Given the description of an element on the screen output the (x, y) to click on. 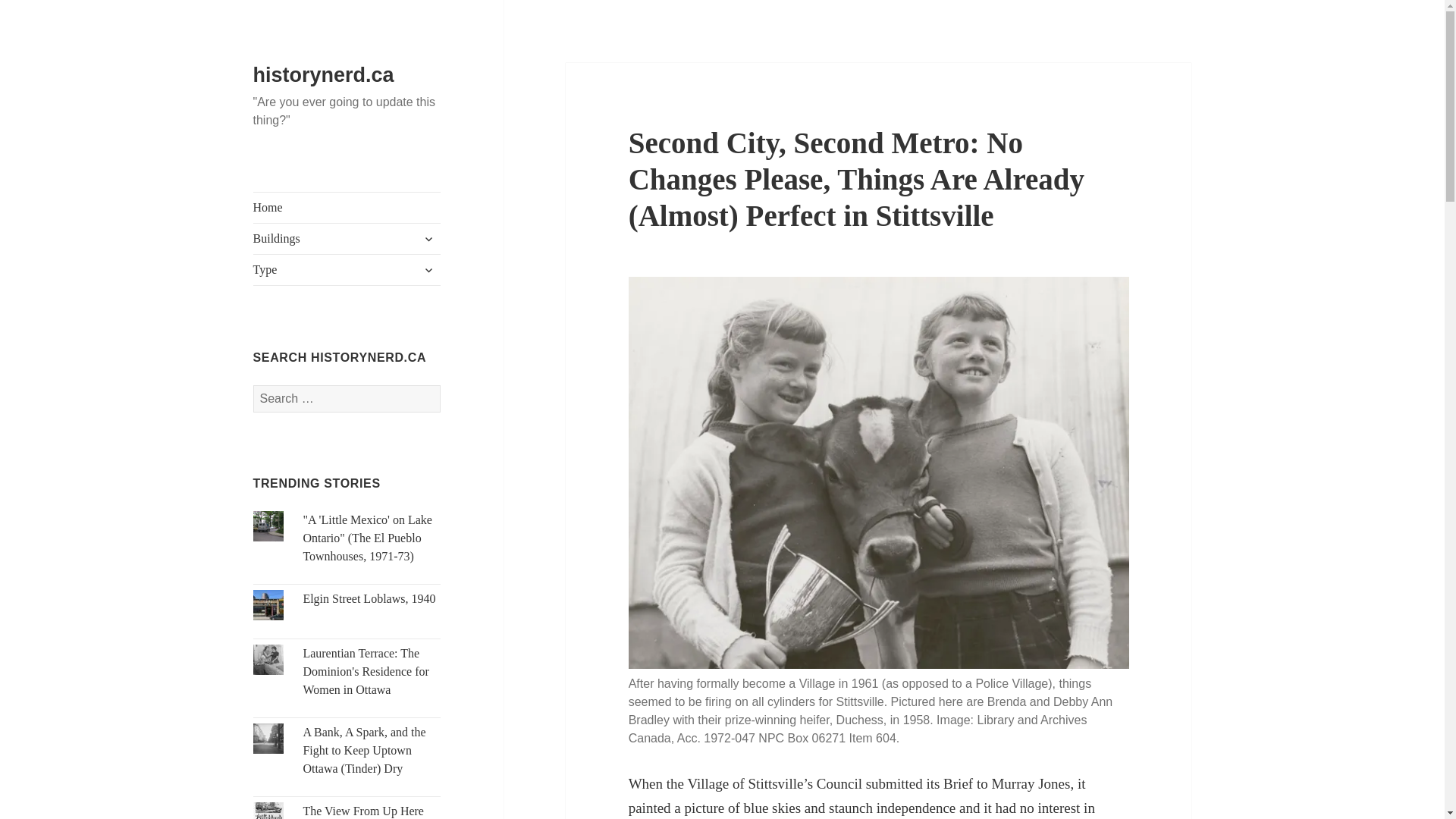
expand child menu (428, 238)
Type (347, 269)
Elgin Street Loblaws, 1940 (368, 598)
Home (347, 207)
Elgin Street Loblaws, 1940 (368, 598)
expand child menu (428, 269)
